Given the description of an element on the screen output the (x, y) to click on. 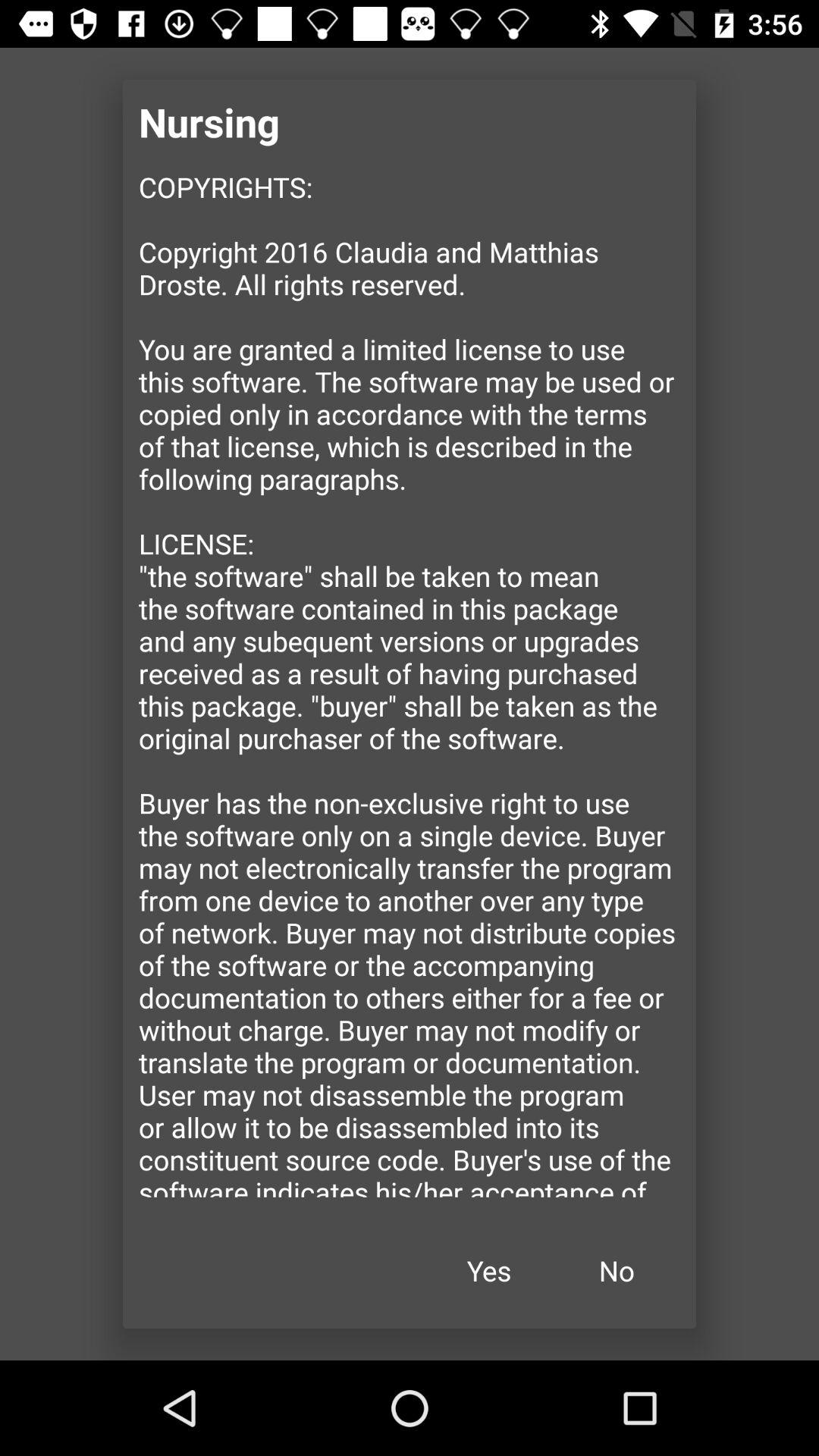
press item next to the yes item (616, 1270)
